Given the description of an element on the screen output the (x, y) to click on. 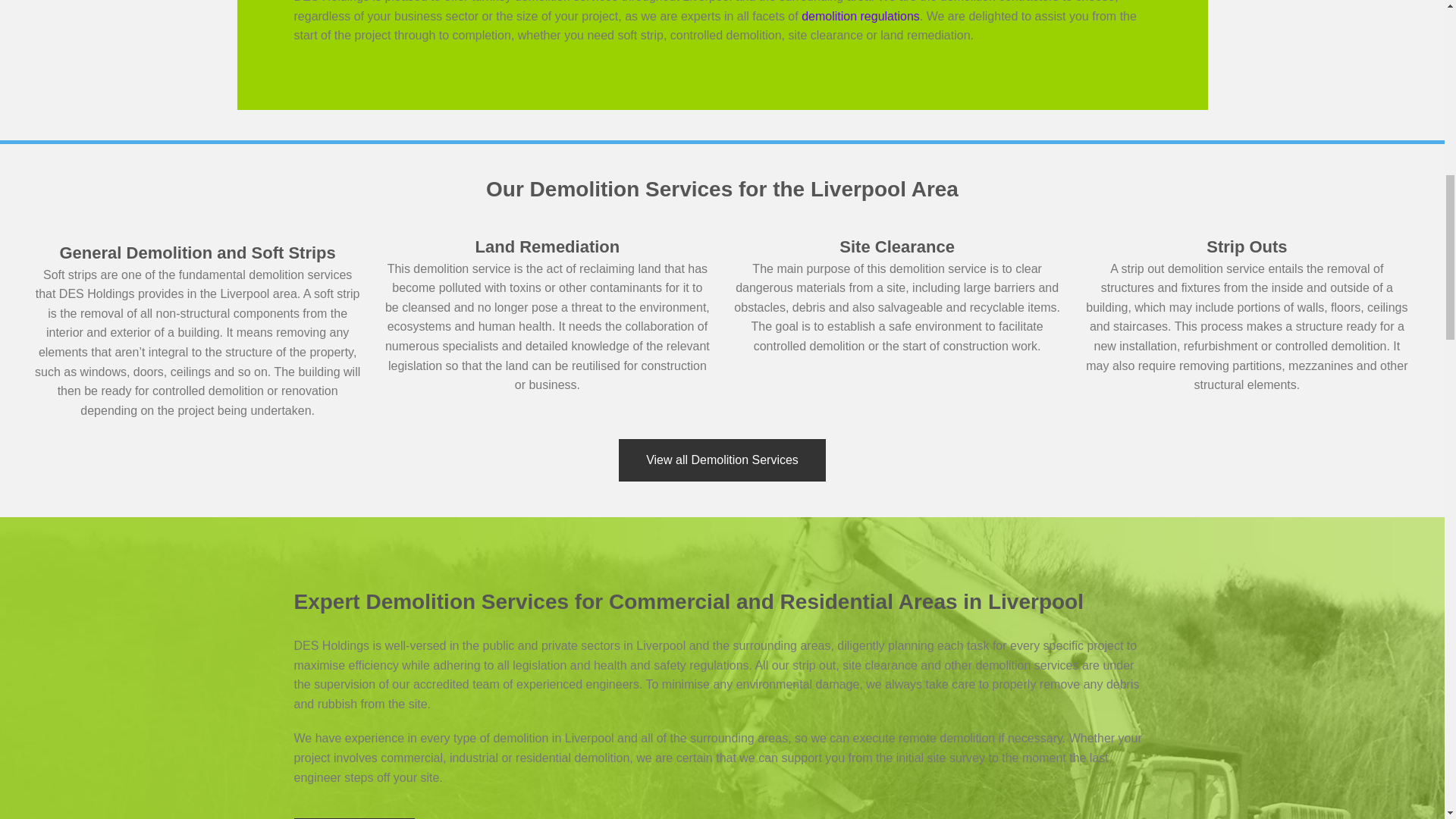
demolition regulations (861, 15)
Site Clearance (897, 246)
General Demolition and Soft Strips (196, 252)
Demolition Services (721, 459)
Strip Outs (1247, 246)
Land Remediation (548, 246)
View all Demolition Services (721, 459)
